Given the description of an element on the screen output the (x, y) to click on. 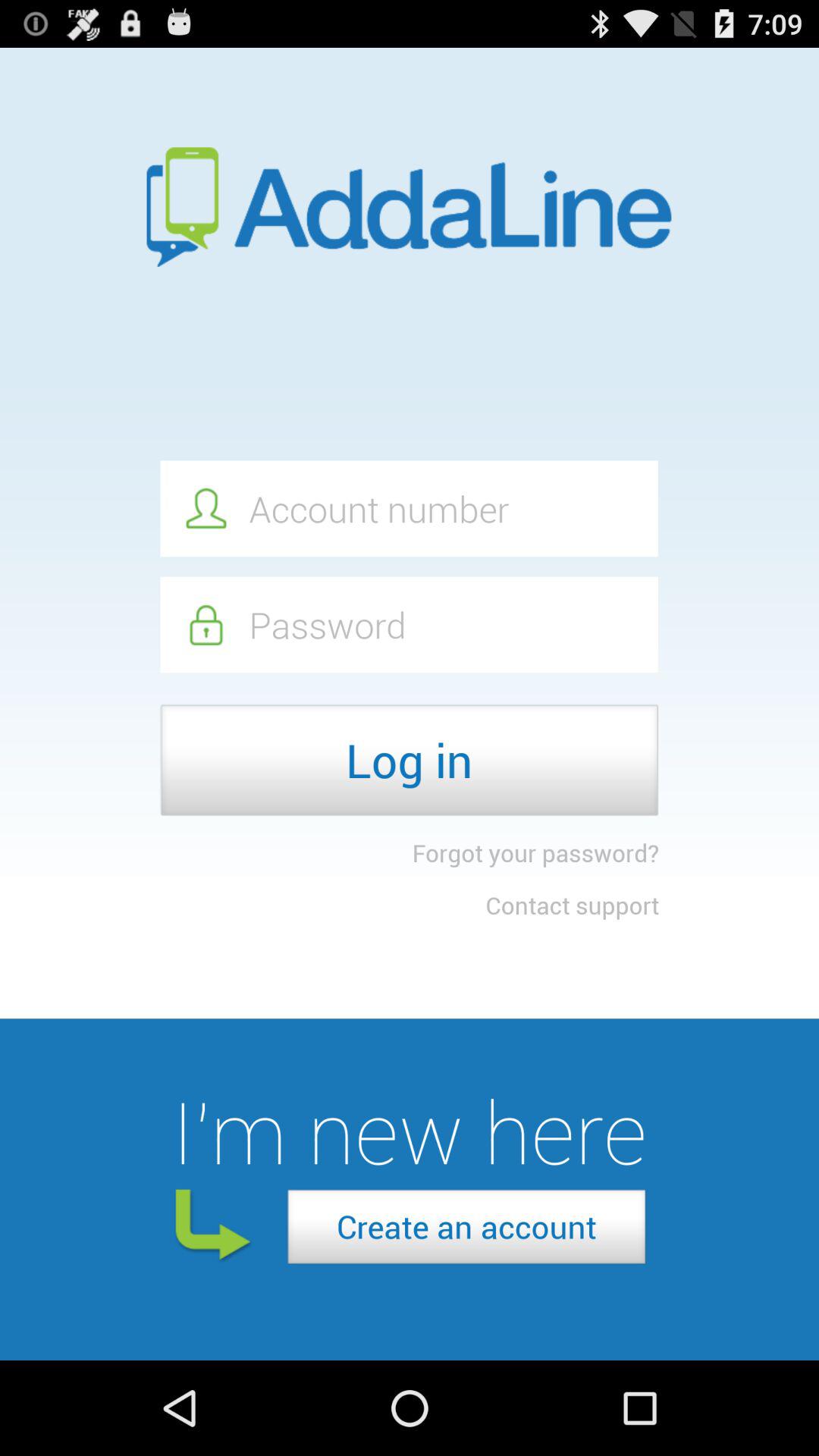
jump to the forgot your password? icon (535, 852)
